Given the description of an element on the screen output the (x, y) to click on. 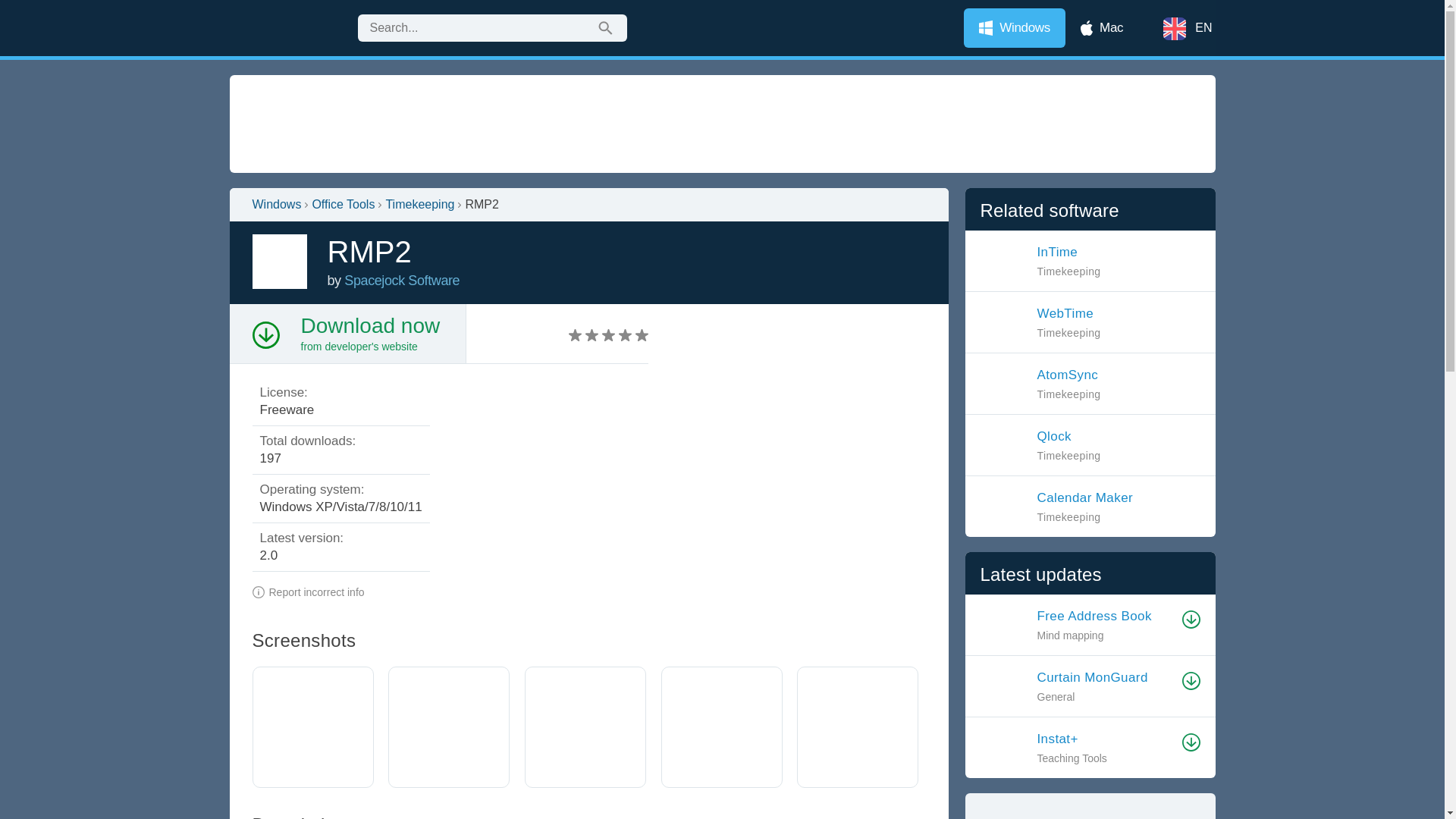
Free Address Book (1104, 615)
Mac (1101, 27)
Spacejock Software (401, 280)
Windows (276, 204)
Timekeeping (419, 204)
Calendar Maker (1039, 444)
Curtain MonGuard (1039, 321)
